Given the description of an element on the screen output the (x, y) to click on. 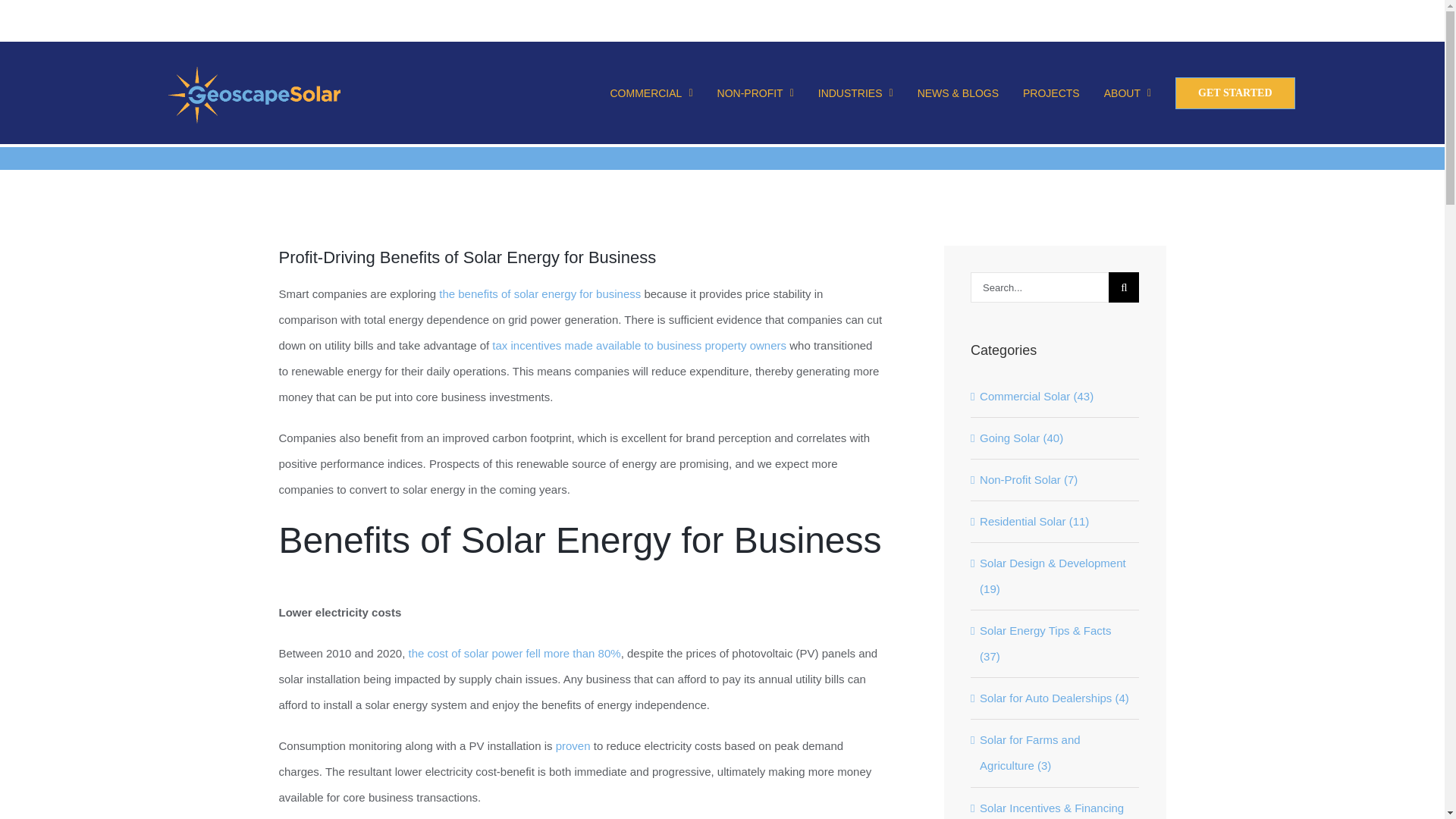
GET STARTED (1234, 92)
the benefits of solar energy for business (539, 293)
tax incentives made available to business property owners (639, 345)
